Given the description of an element on the screen output the (x, y) to click on. 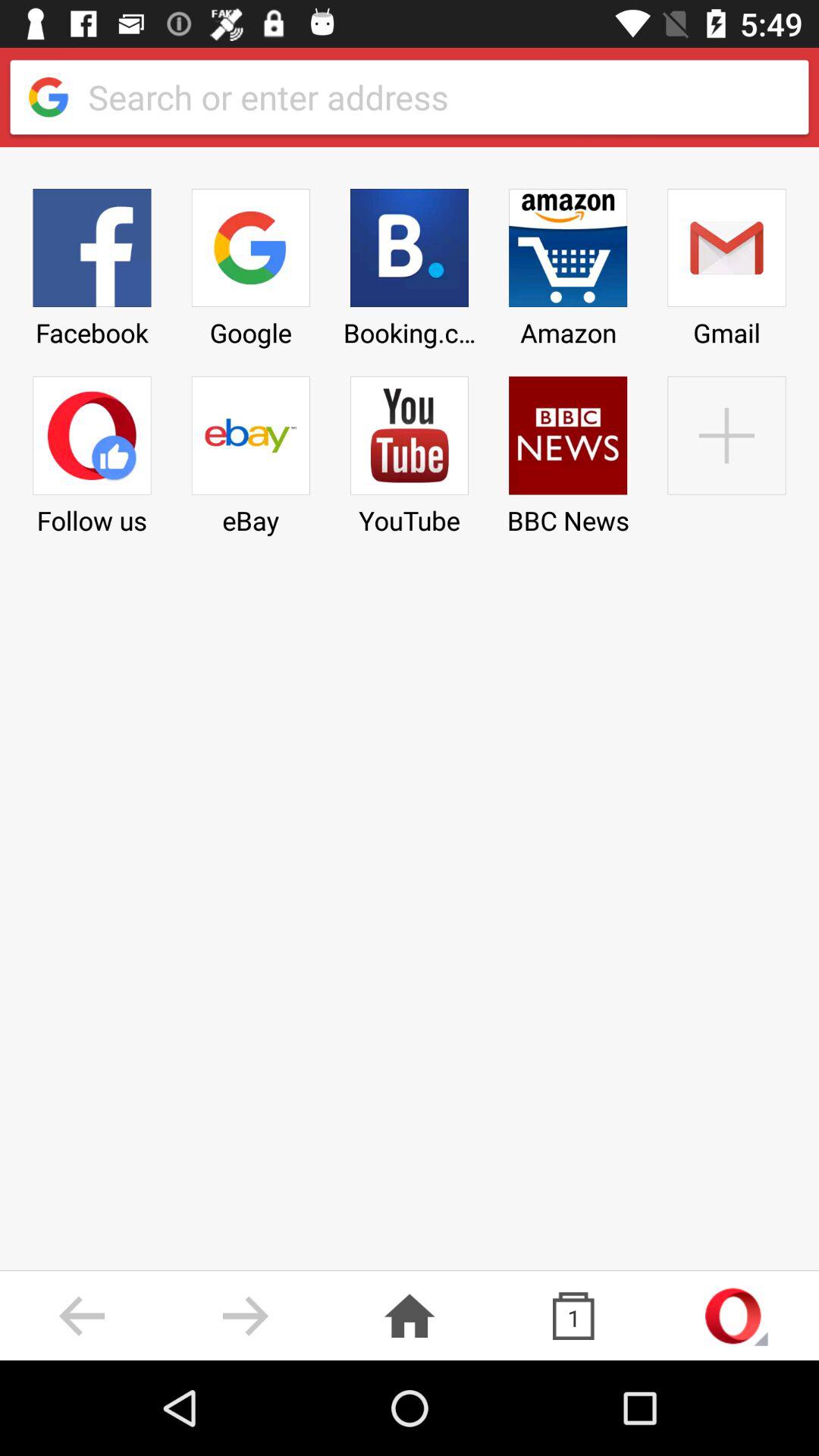
turn off the item to the left of the google item (92, 262)
